Given the description of an element on the screen output the (x, y) to click on. 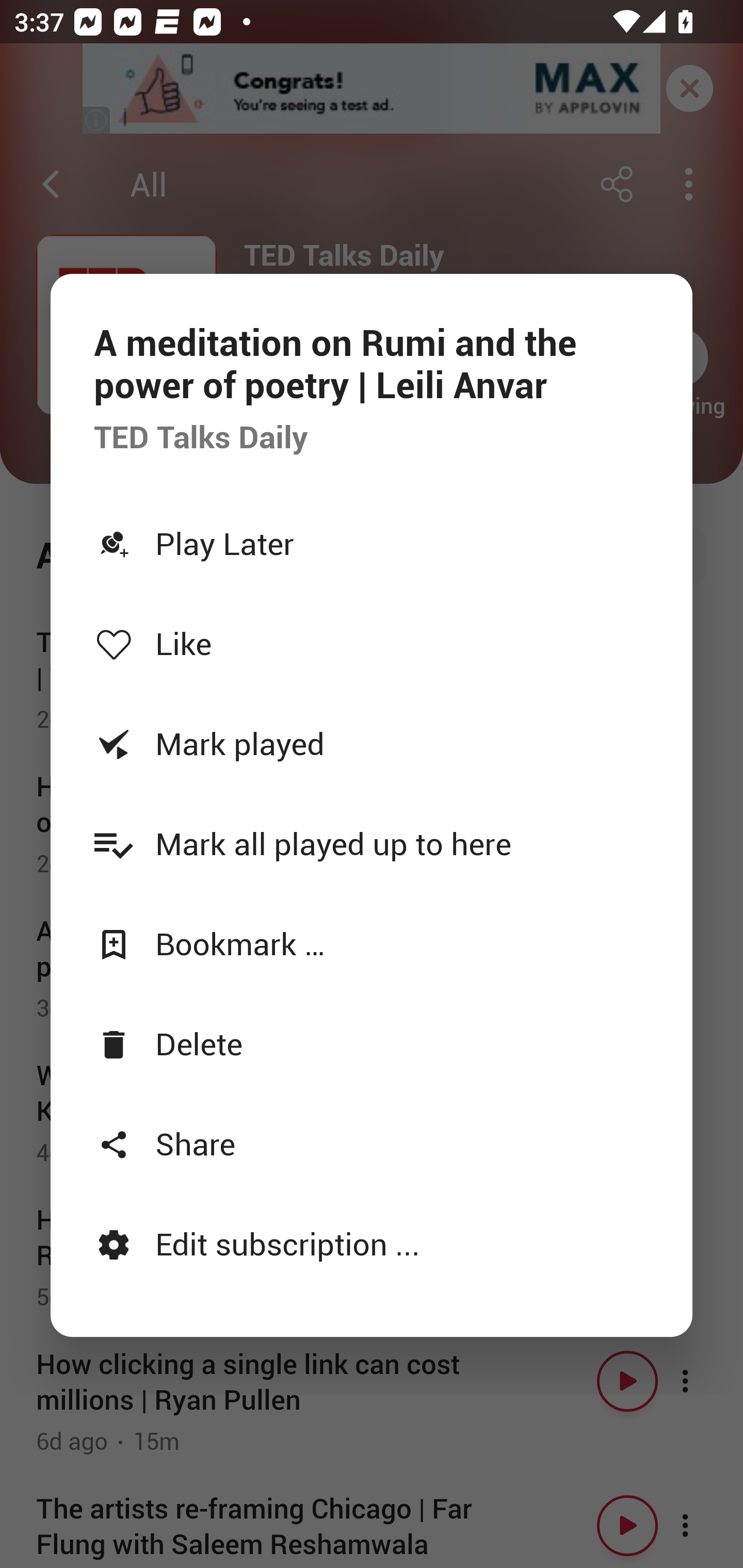
Play Later (371, 542)
Like (371, 642)
Mark played (371, 743)
Mark all played up to here (371, 843)
Bookmark … (371, 943)
Delete (371, 1043)
Share (371, 1142)
Edit subscription ... (371, 1243)
